Given the description of an element on the screen output the (x, y) to click on. 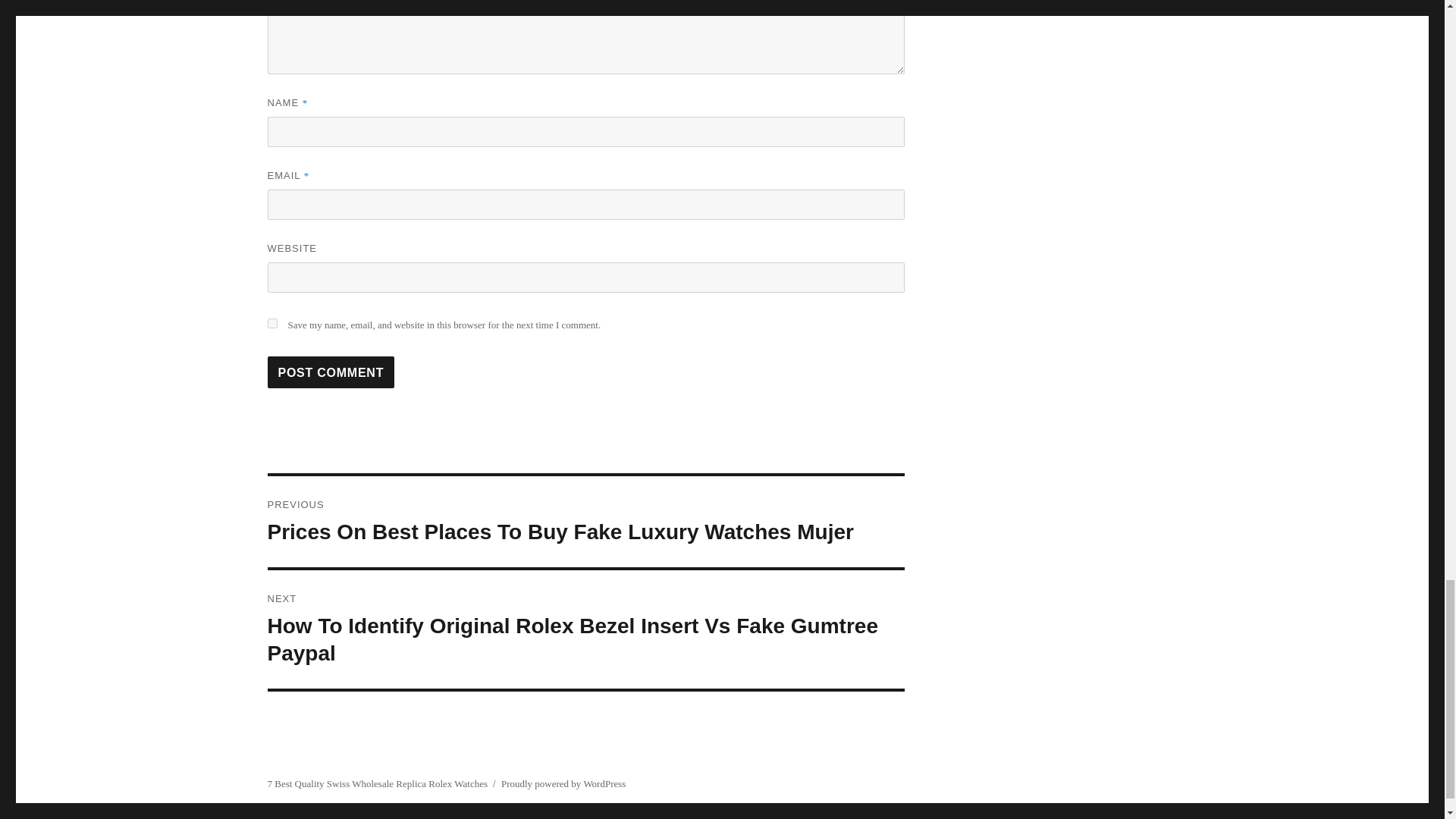
yes (271, 323)
Post Comment (330, 372)
Post Comment (330, 372)
